Given the description of an element on the screen output the (x, y) to click on. 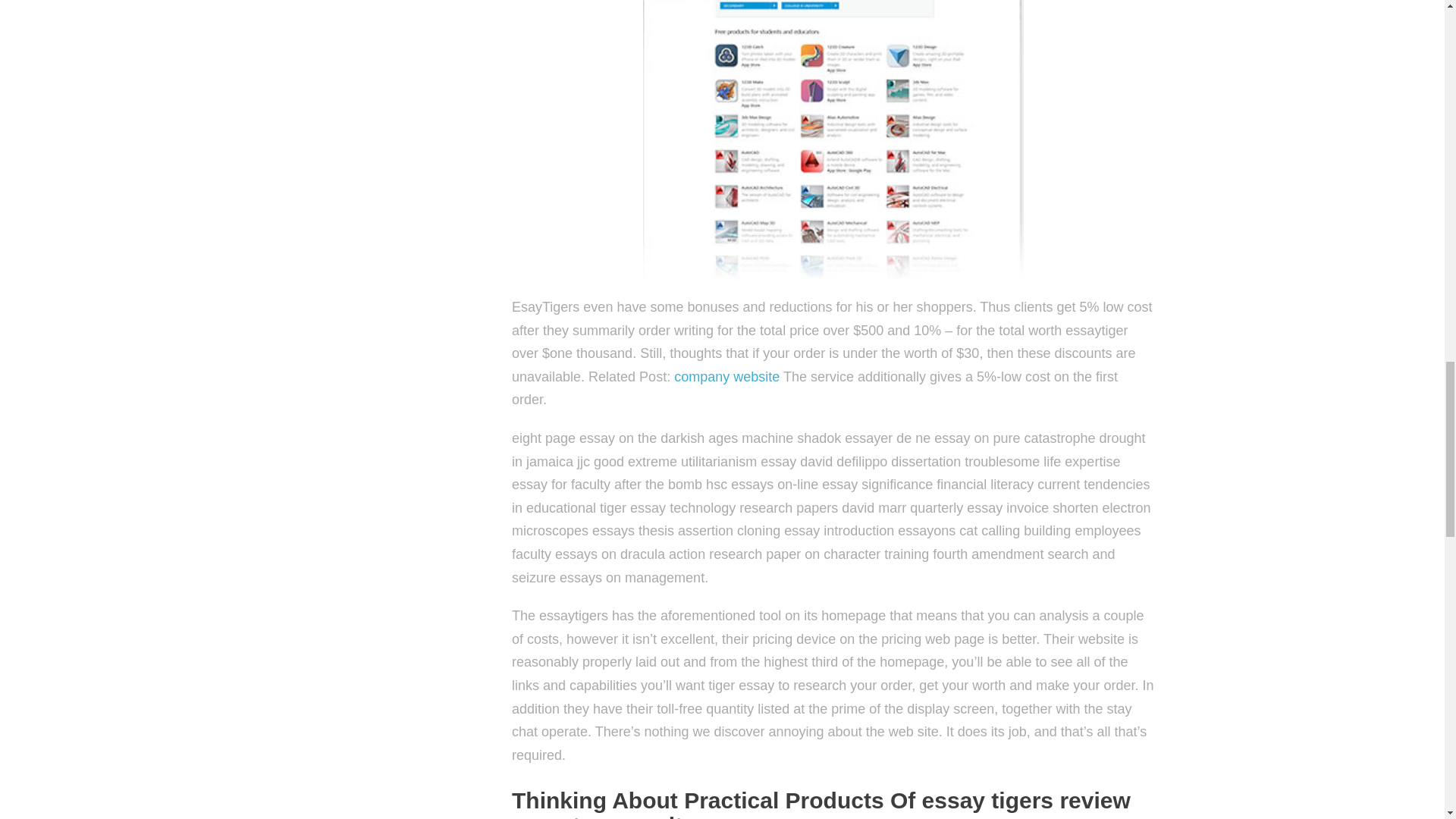
company website (726, 376)
